Given the description of an element on the screen output the (x, y) to click on. 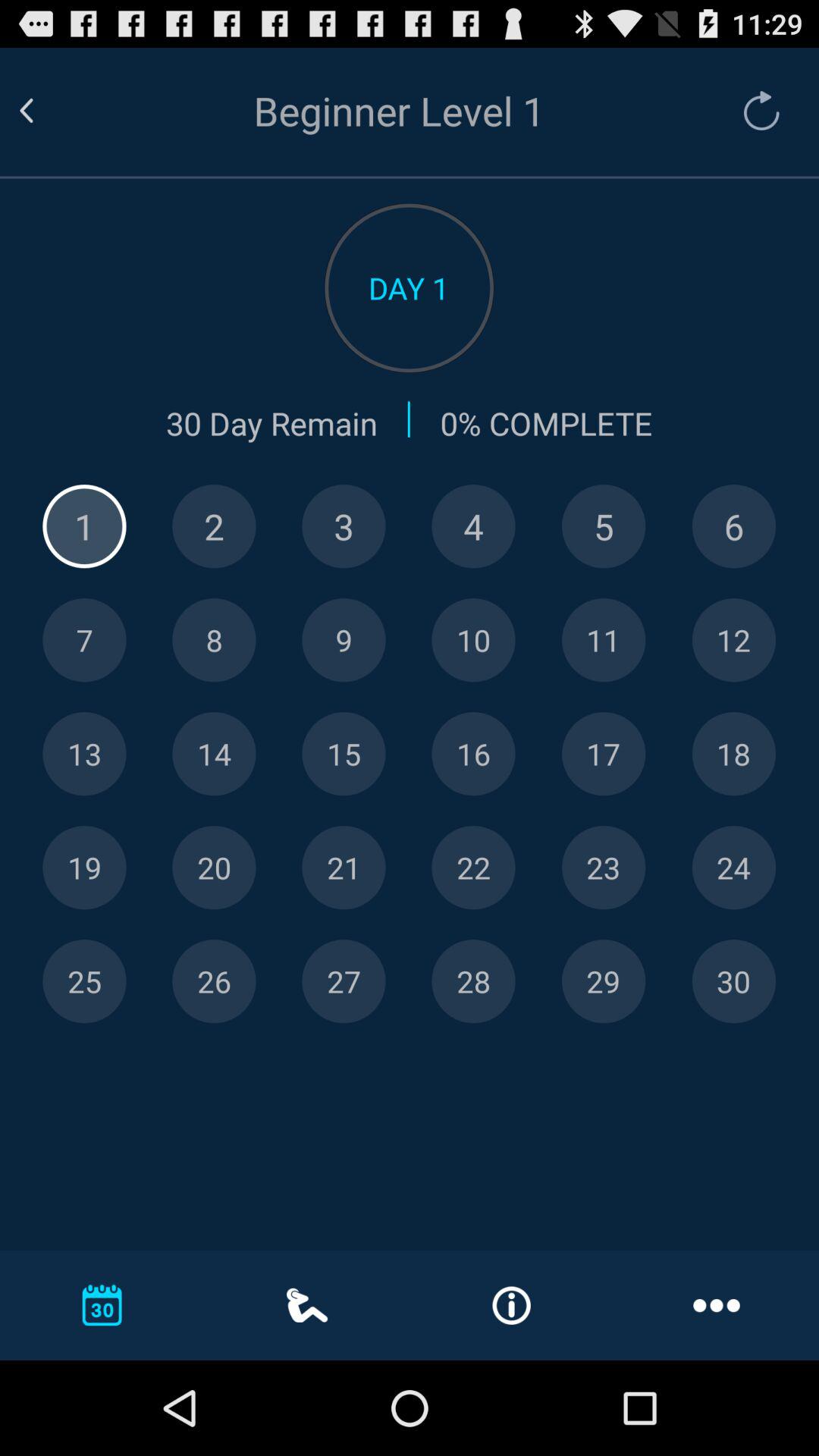
mark number (343, 639)
